Given the description of an element on the screen output the (x, y) to click on. 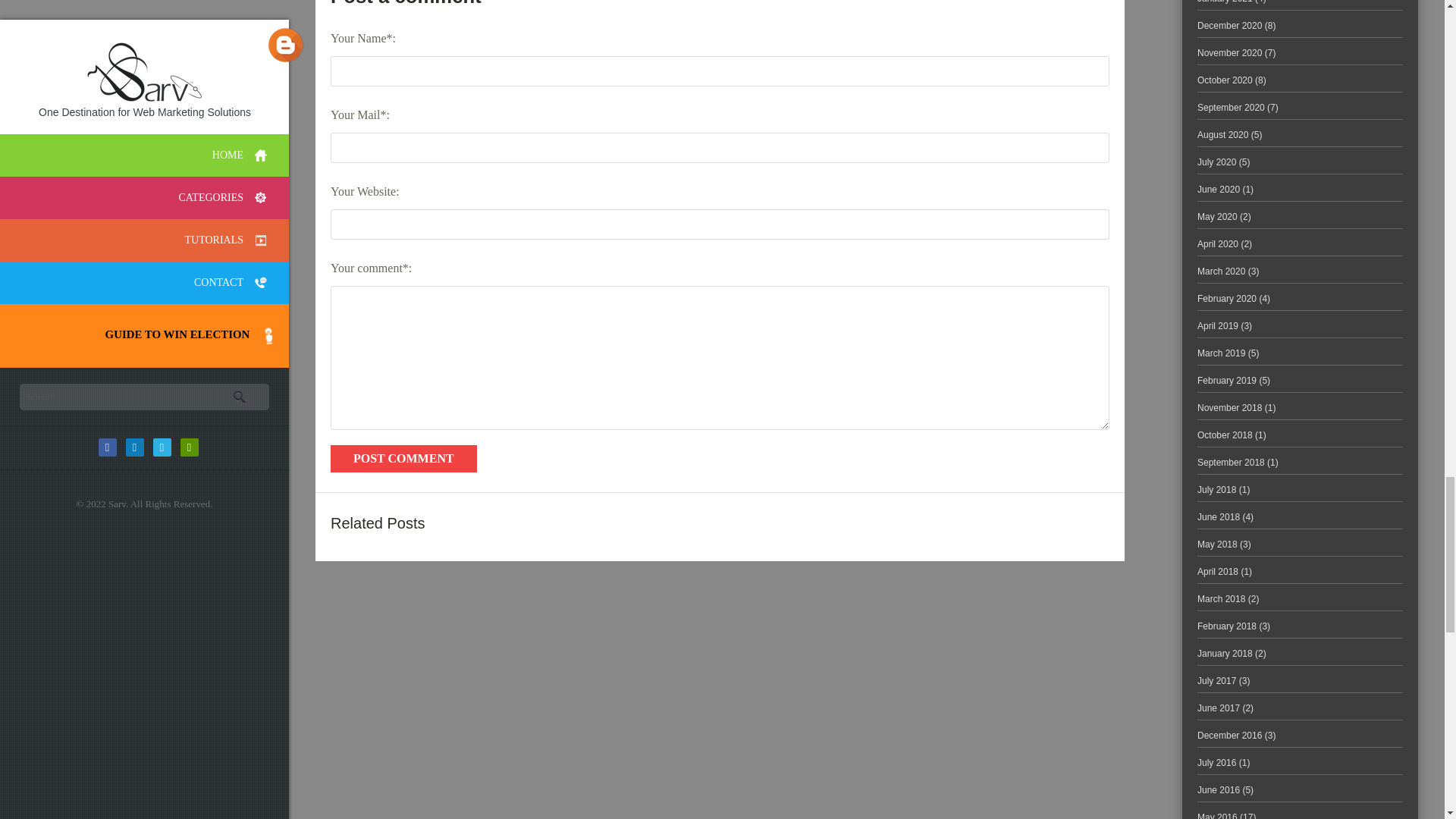
POST COMMENT (403, 458)
POST COMMENT (403, 458)
